Given the description of an element on the screen output the (x, y) to click on. 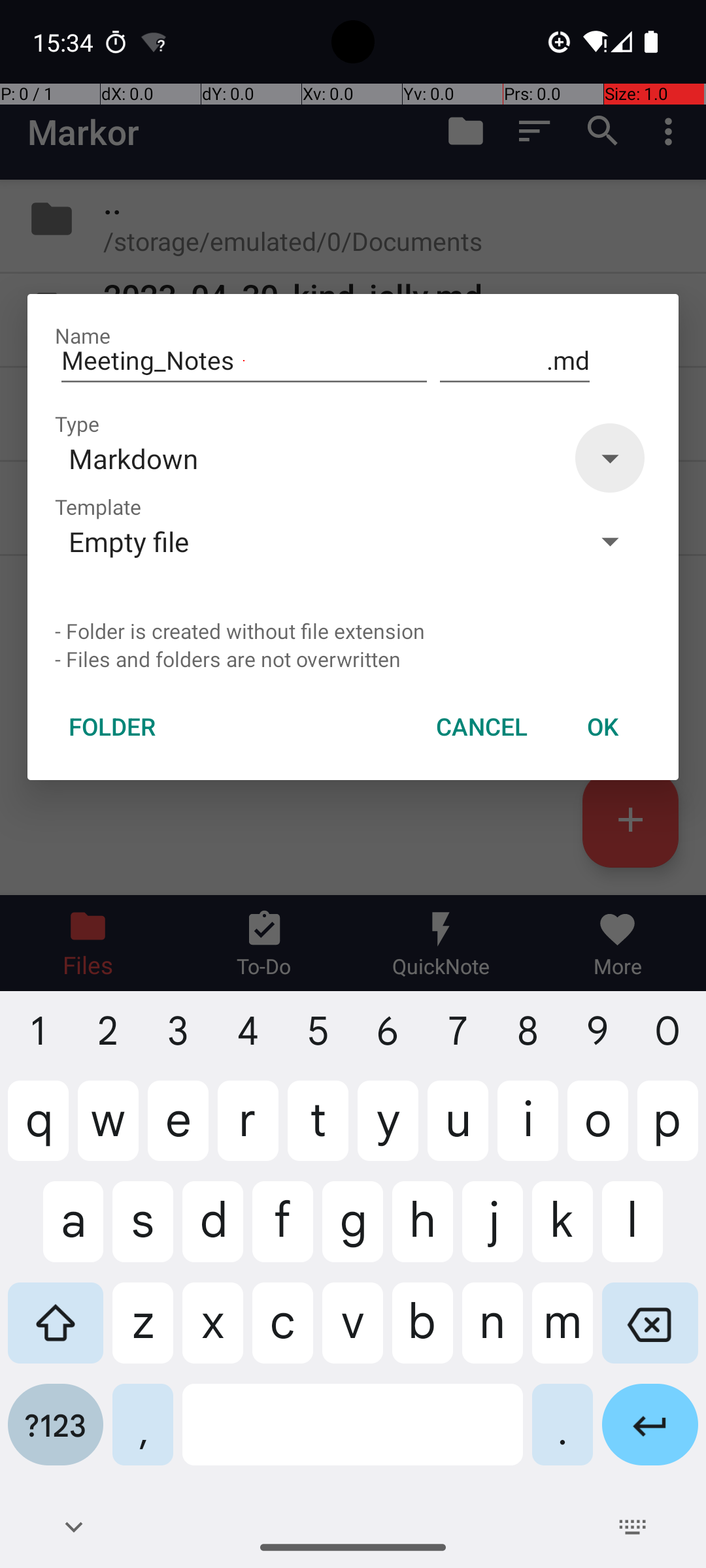
Meeting_Notes Element type: android.widget.EditText (243, 360)
